Given the description of an element on the screen output the (x, y) to click on. 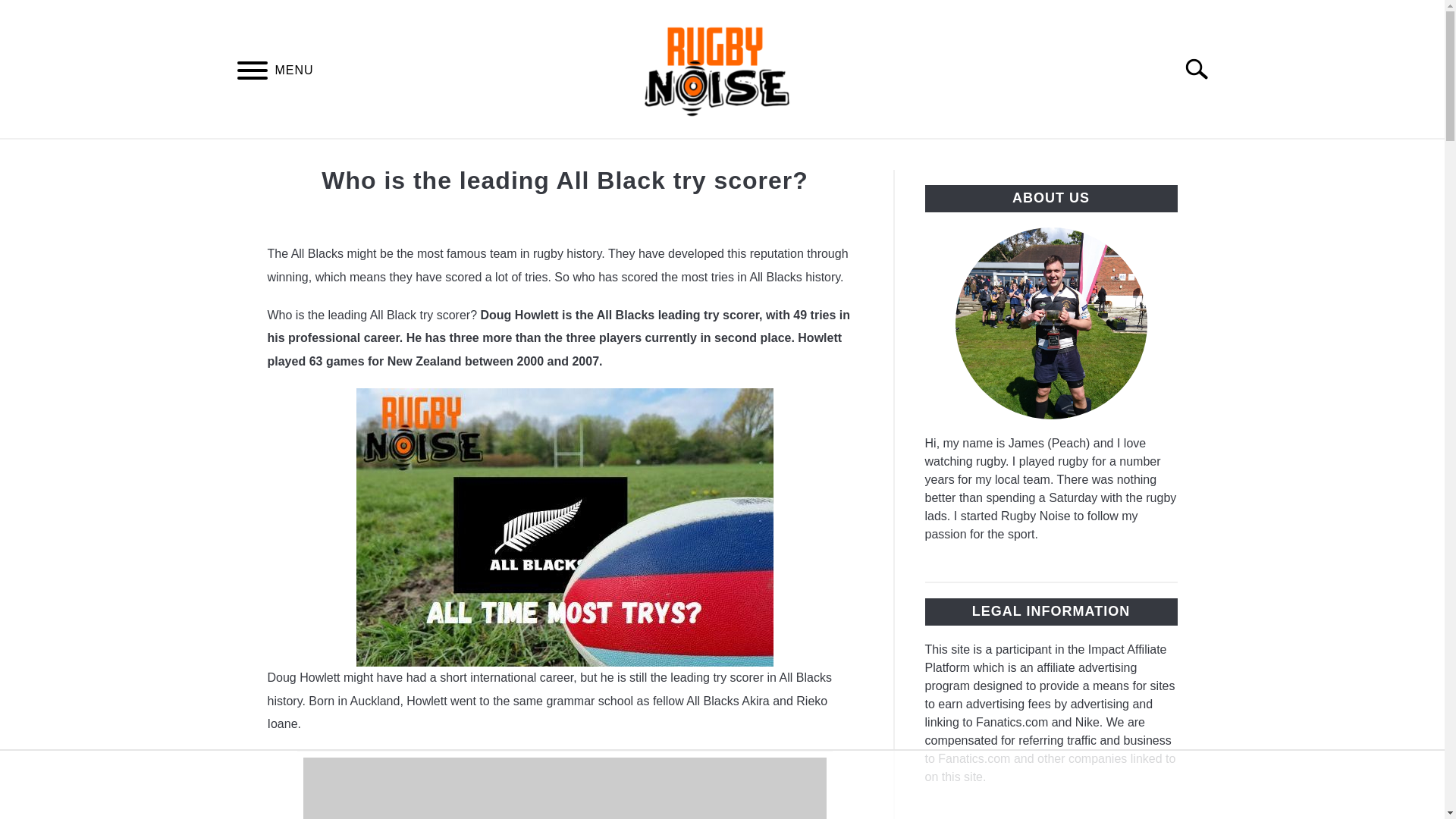
MENU (251, 72)
Search (1203, 68)
